Given the description of an element on the screen output the (x, y) to click on. 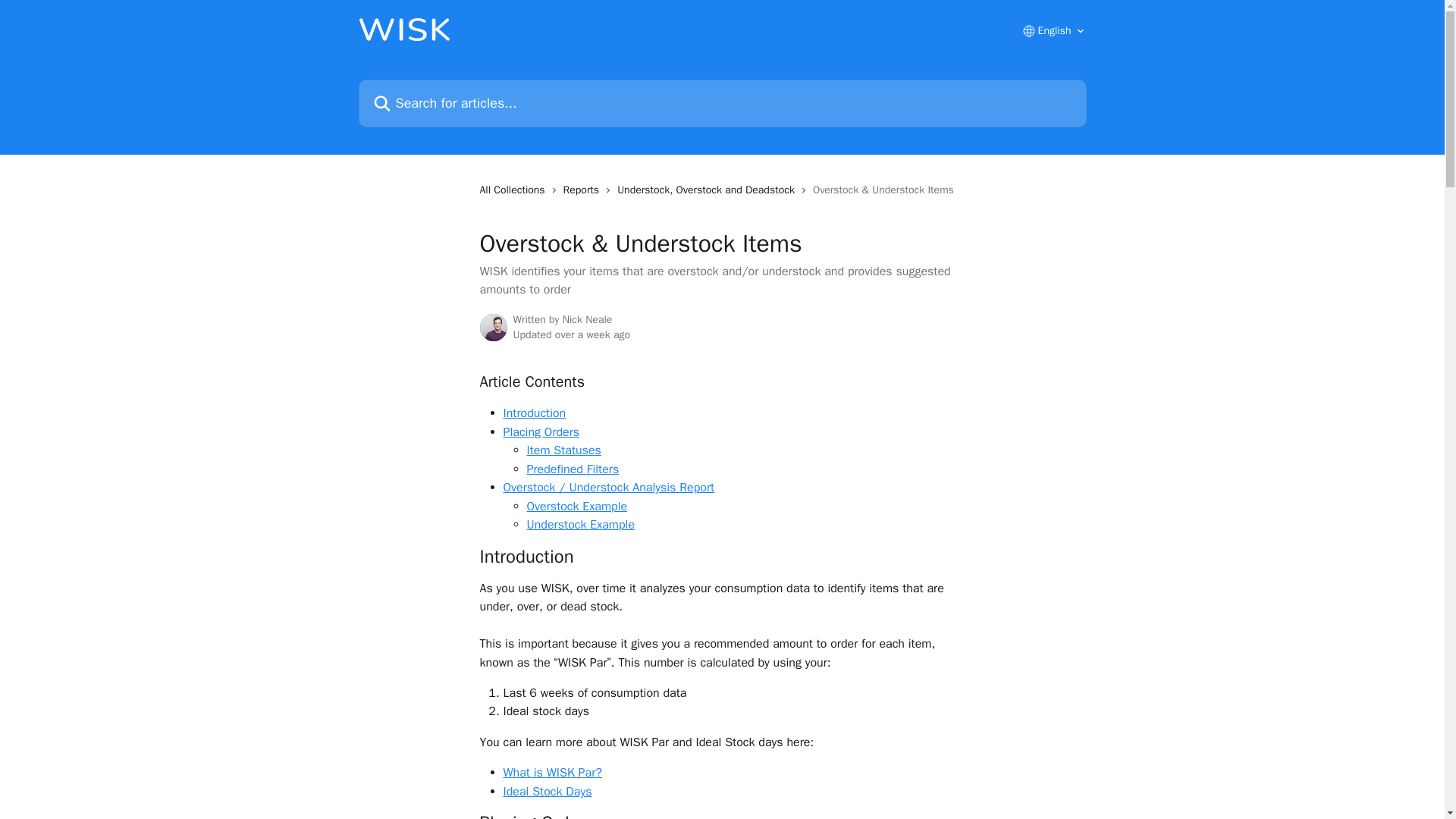
Predefined Filters (571, 468)
Reports (584, 190)
Overstock Example (576, 506)
What is WISK Par? (552, 772)
Ideal Stock Days (547, 791)
Placing Orders (541, 432)
Understock, Overstock and Deadstock (708, 190)
Introduction (534, 412)
All Collections (514, 190)
Understock Example (579, 524)
